Given the description of an element on the screen output the (x, y) to click on. 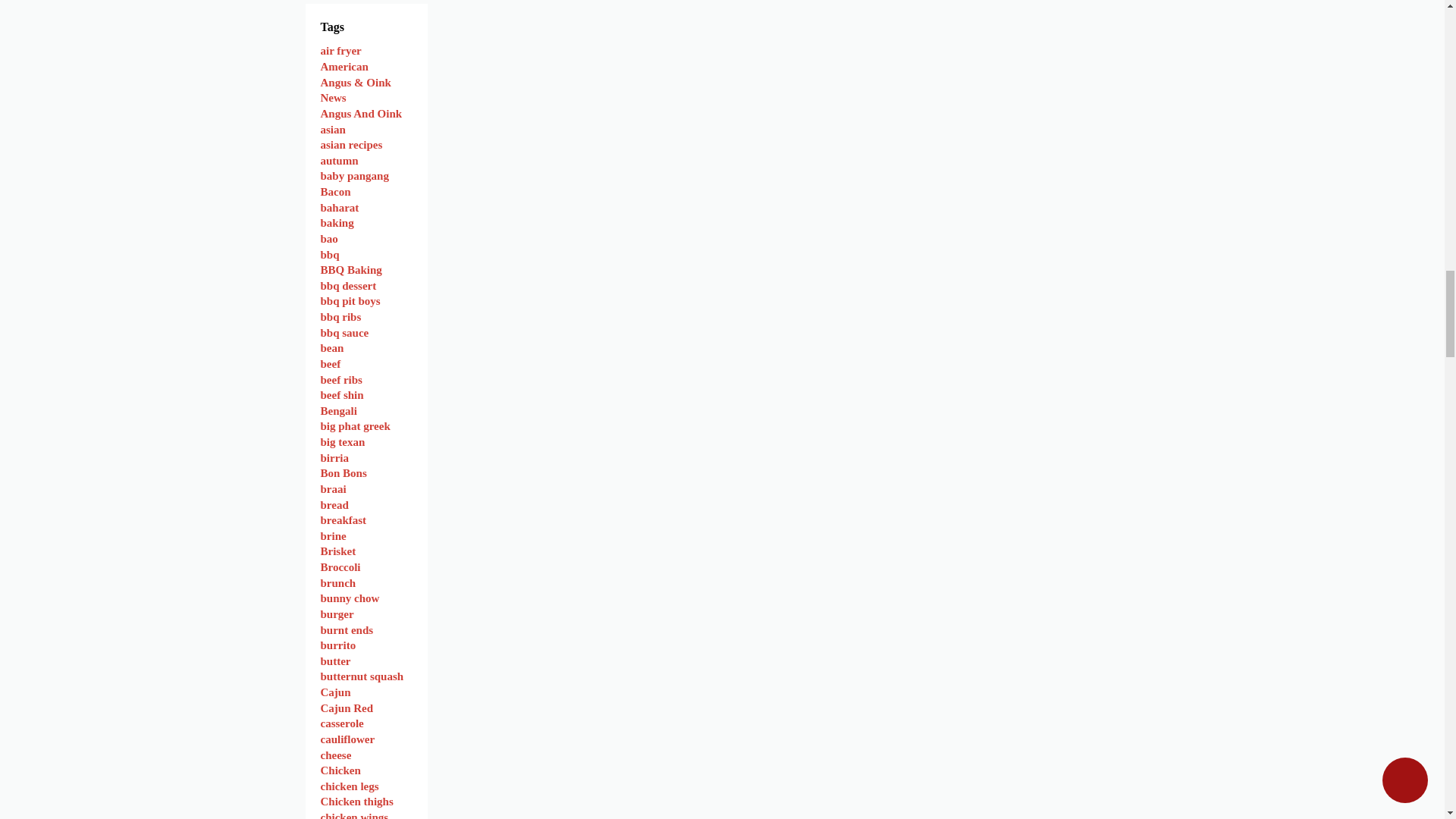
Show articles tagged American (344, 66)
Show articles tagged Angus And Oink (360, 113)
Show articles tagged autumn (339, 160)
Show articles tagged BBQ Baking (350, 269)
Show articles tagged bbq pit boys (350, 300)
Show articles tagged bbq dessert (347, 285)
Show articles tagged baharat (339, 207)
Show articles tagged asian recipes (350, 144)
Show articles tagged baking (336, 223)
Show articles tagged baby pangang (354, 175)
